Given the description of an element on the screen output the (x, y) to click on. 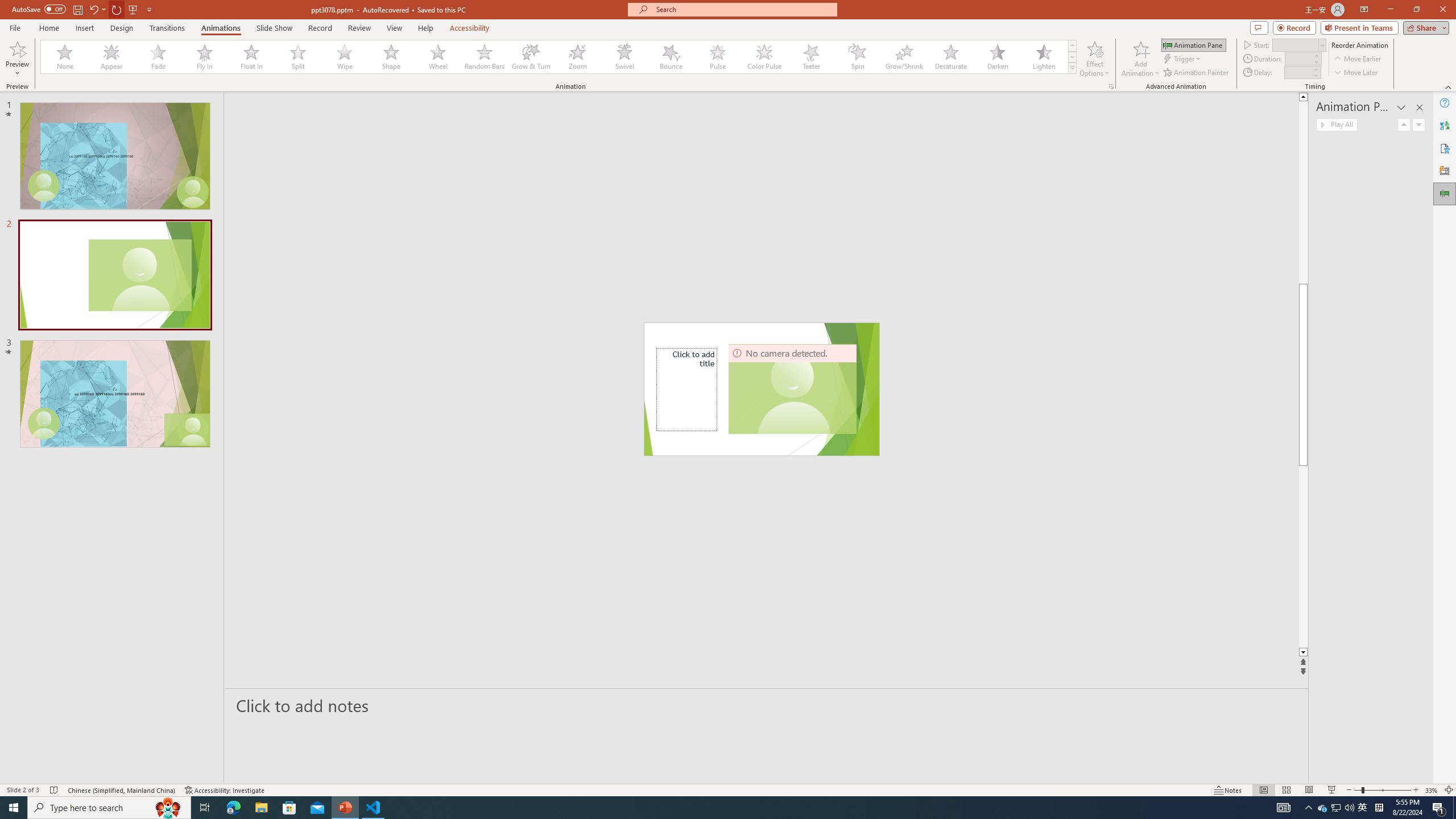
Camera 3, No camera detected. (792, 388)
Float In (251, 56)
Desaturate (950, 56)
Trigger (1182, 58)
Fly In (205, 56)
